Given the description of an element on the screen output the (x, y) to click on. 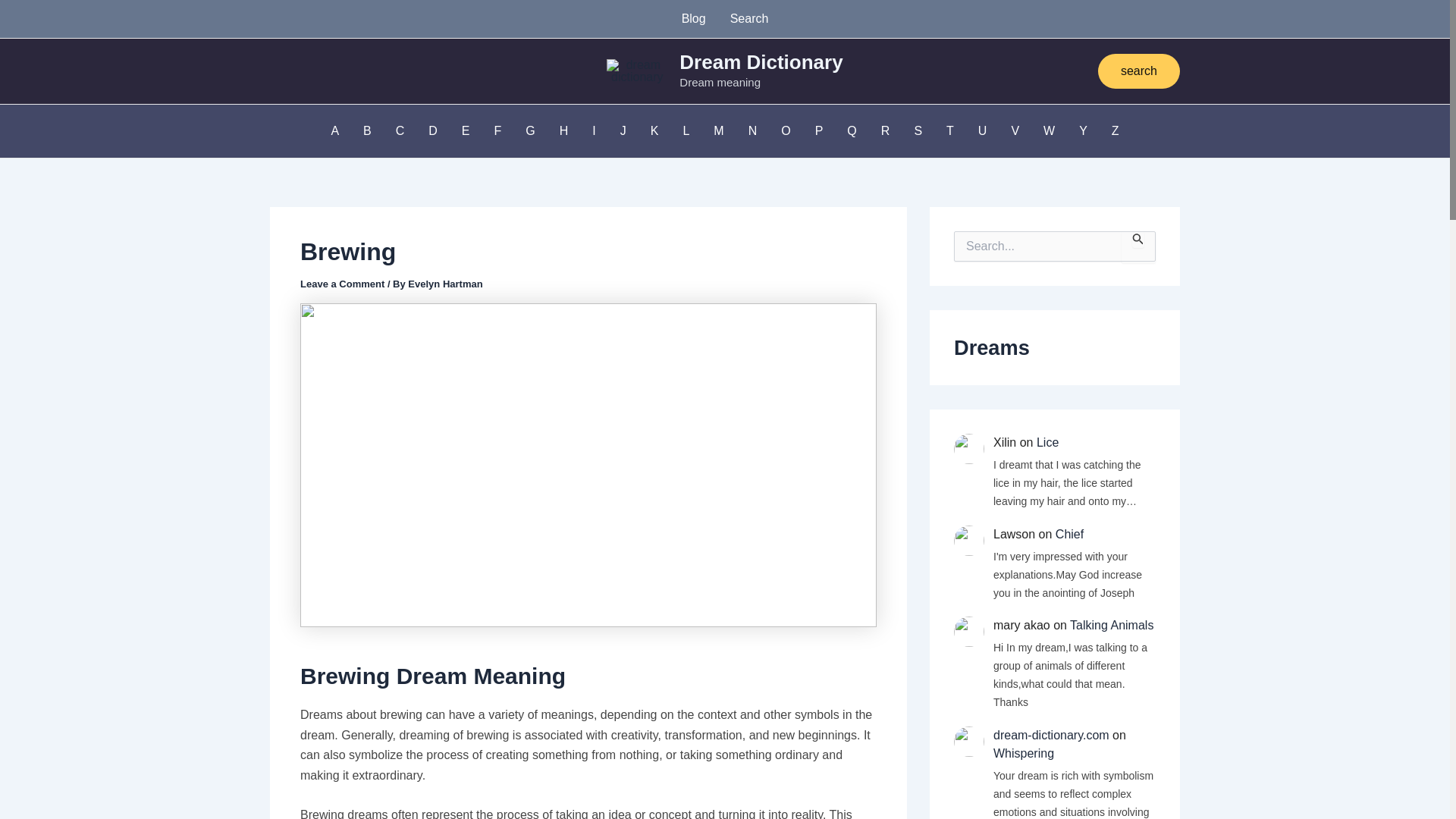
Search (1138, 246)
search (1138, 71)
Search (1138, 246)
View all posts by Evelyn Hartman (444, 283)
Search (748, 18)
Dream Dictionary (761, 61)
Blog (693, 18)
